Given the description of an element on the screen output the (x, y) to click on. 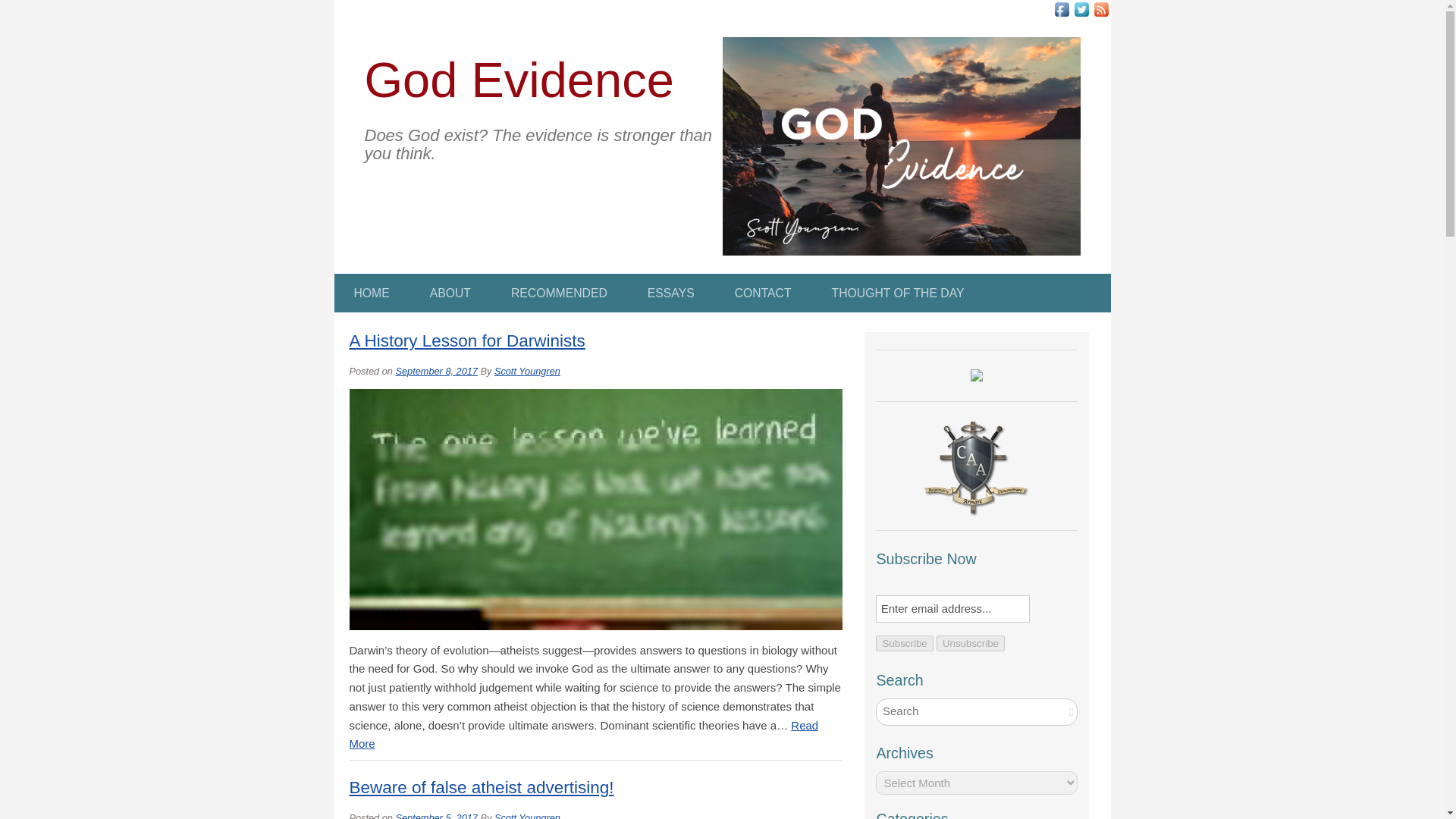
HOME (371, 292)
Visit Us On Facebook (1060, 8)
ESSAYS (670, 292)
RECOMMENDED (559, 292)
Beware of false atheist advertising! (480, 787)
September 8, 2017 (435, 370)
Unsubscribe (970, 643)
September 5, 2017 (435, 815)
A History Lesson for Darwinists (467, 340)
Enter email address... (952, 608)
Check Our Feed (1099, 8)
Posts by Scott Youngren (527, 815)
God Evidence (518, 79)
CONTACT (762, 292)
Read More (583, 735)
